Given the description of an element on the screen output the (x, y) to click on. 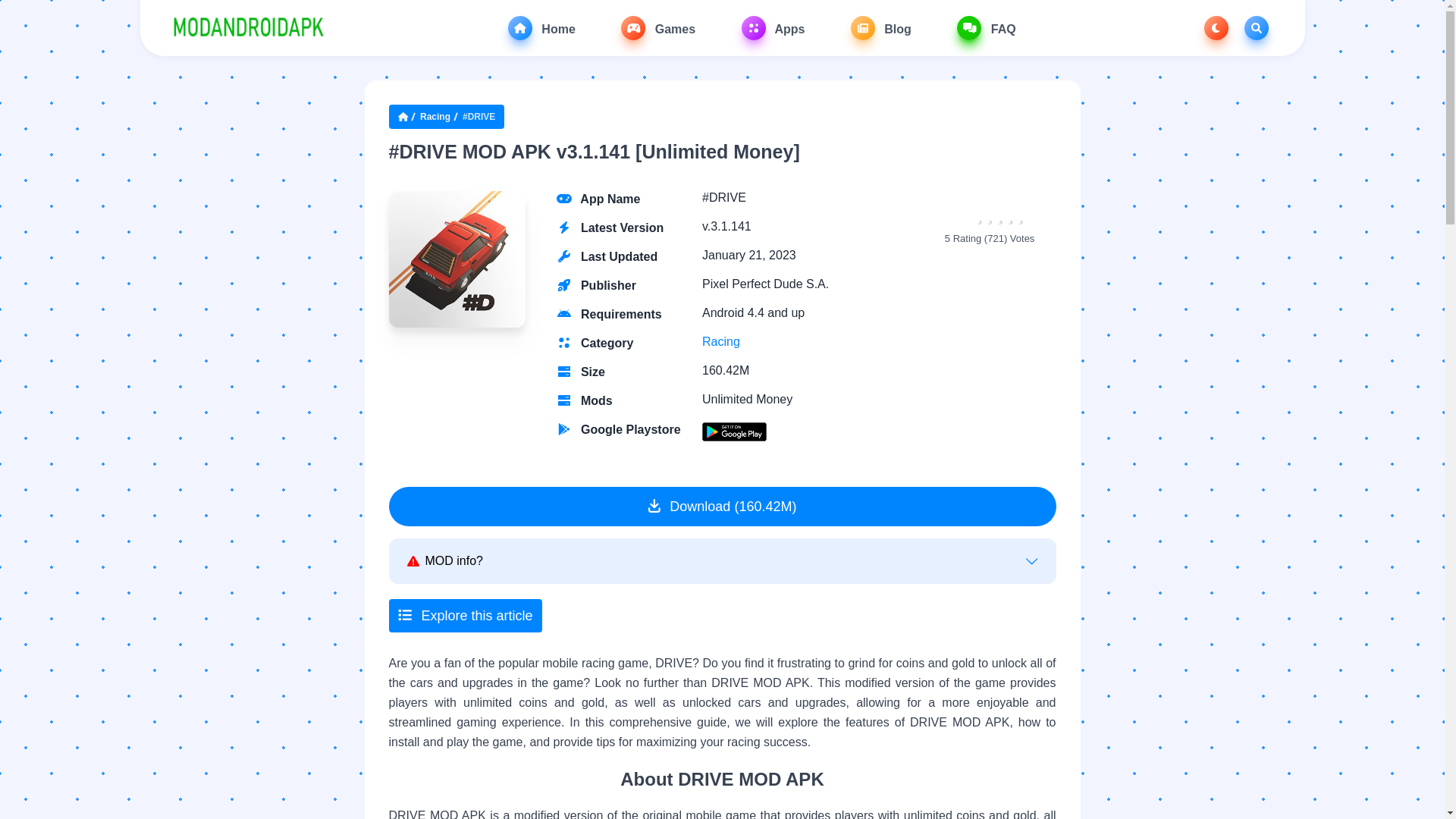
MOD info? (721, 560)
Explore this article (464, 615)
Racing (435, 116)
Dark Mode (1216, 27)
Racing (720, 341)
FAQ (985, 27)
Blog (880, 27)
Search (1255, 27)
Games (658, 27)
Apps (773, 27)
